Given the description of an element on the screen output the (x, y) to click on. 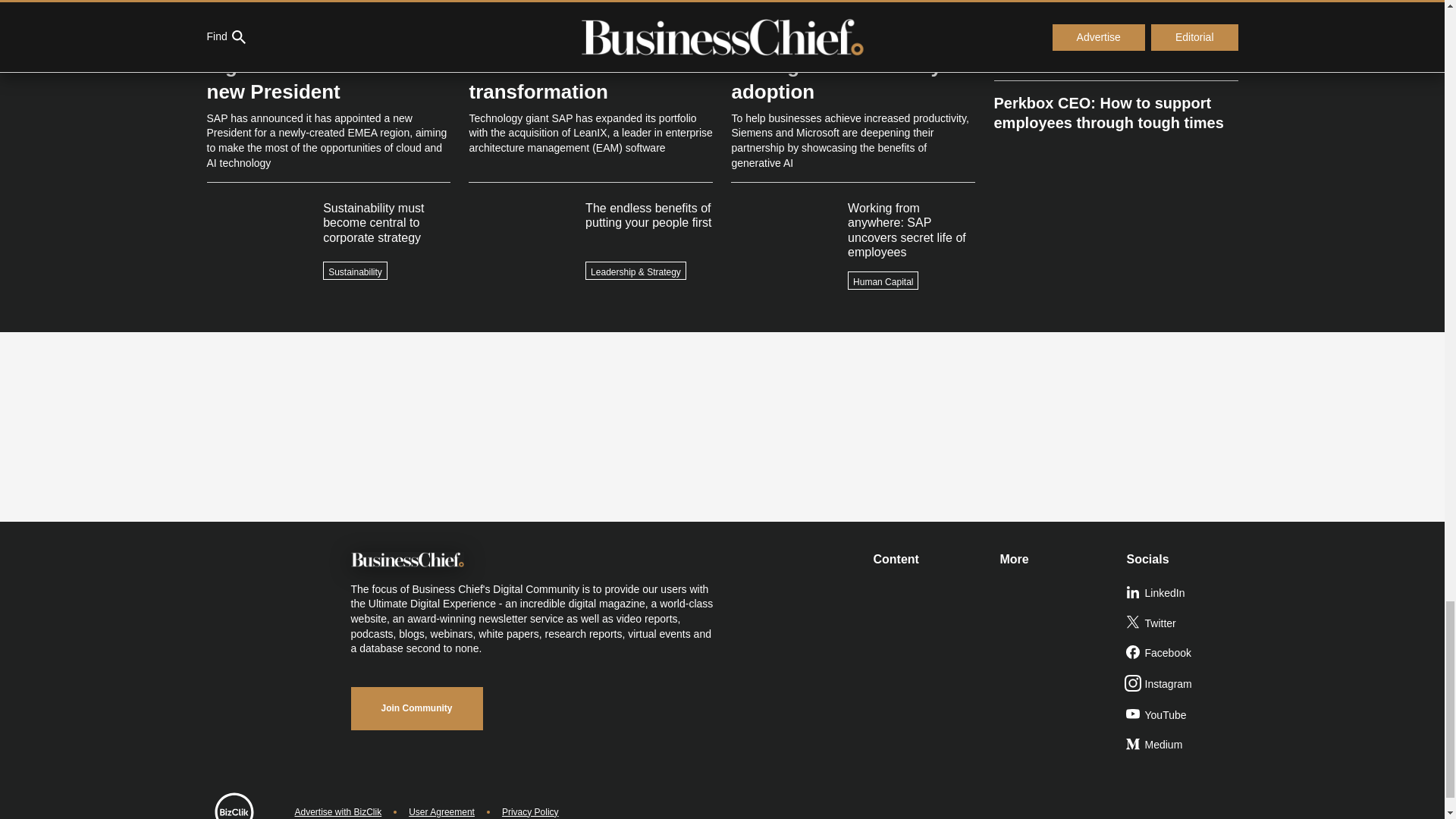
YouTube (1182, 716)
Twitter (1182, 624)
Facebook (1182, 653)
Join Community (415, 708)
Instagram (1182, 685)
Perkbox CEO: How to support employees through tough times (1114, 106)
Business Chief expands portfolio with new look and coverage (1114, 8)
LinkedIn (1182, 593)
How Octopus Energy grew to become an industry giant (1114, 48)
